Given the description of an element on the screen output the (x, y) to click on. 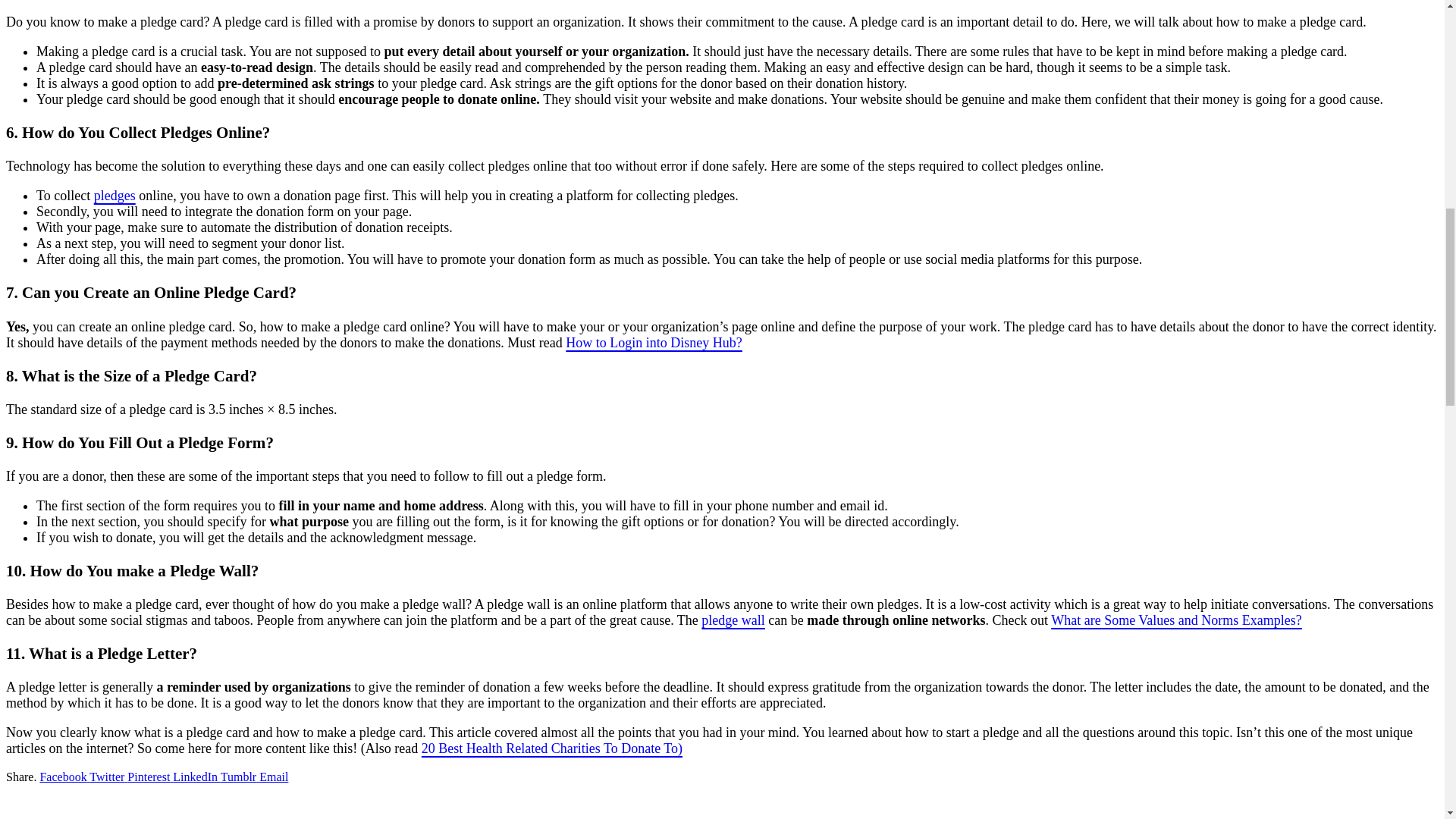
Email (273, 776)
Tumblr (240, 776)
What are Some Values and Norms Examples? (1176, 620)
pledges (114, 195)
Share on Tumblr (240, 776)
Share via Email (273, 776)
Share on LinkedIn (196, 776)
Facebook (63, 776)
How to Login into Disney Hub? (653, 342)
Pinterest (150, 776)
